Given the description of an element on the screen output the (x, y) to click on. 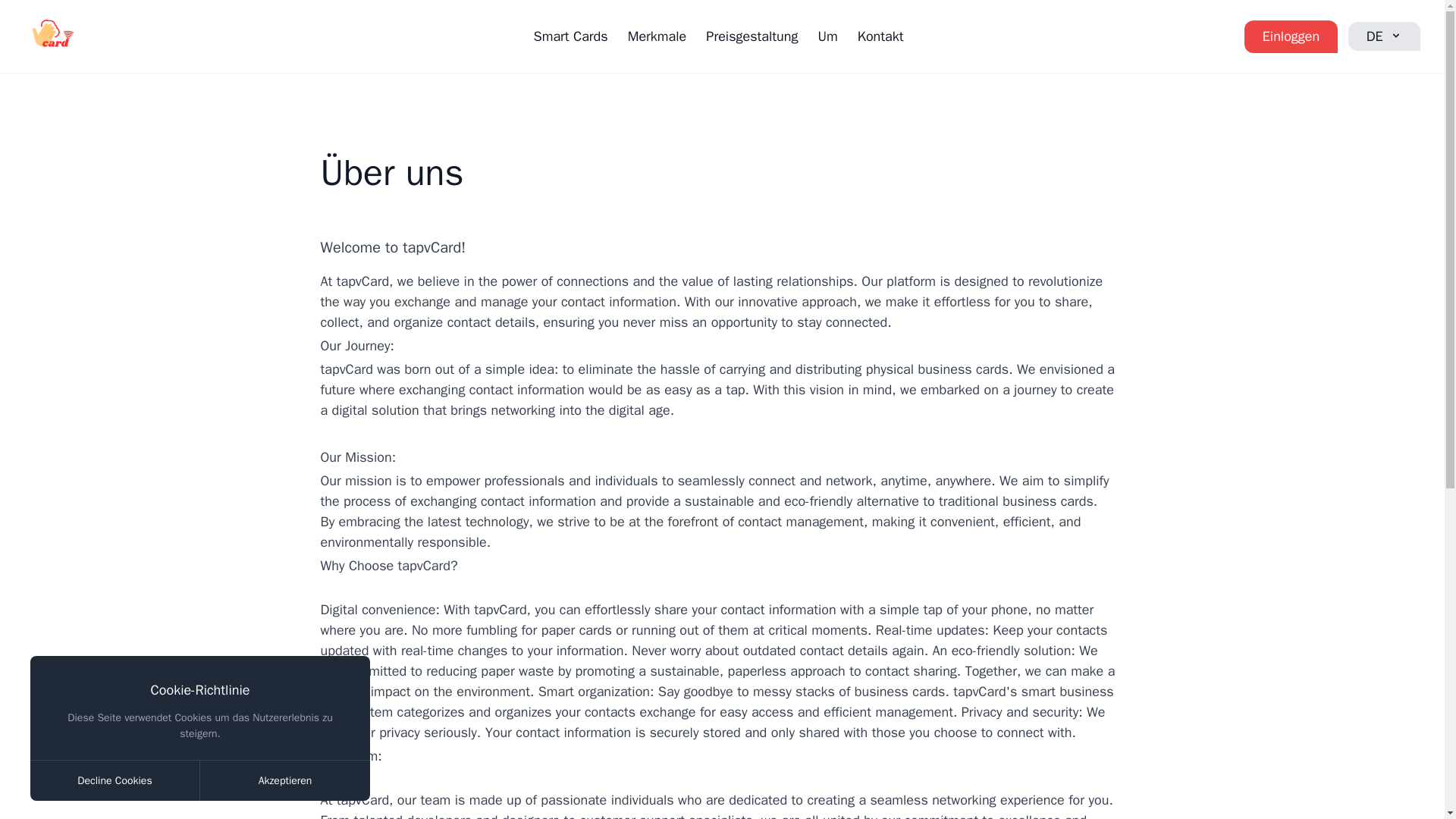
Kontakt (880, 35)
DE (1384, 35)
Einloggen (1291, 35)
Smart Cards (571, 35)
Um (826, 35)
Merkmale (657, 35)
Preisgestaltung (751, 35)
